Given the description of an element on the screen output the (x, y) to click on. 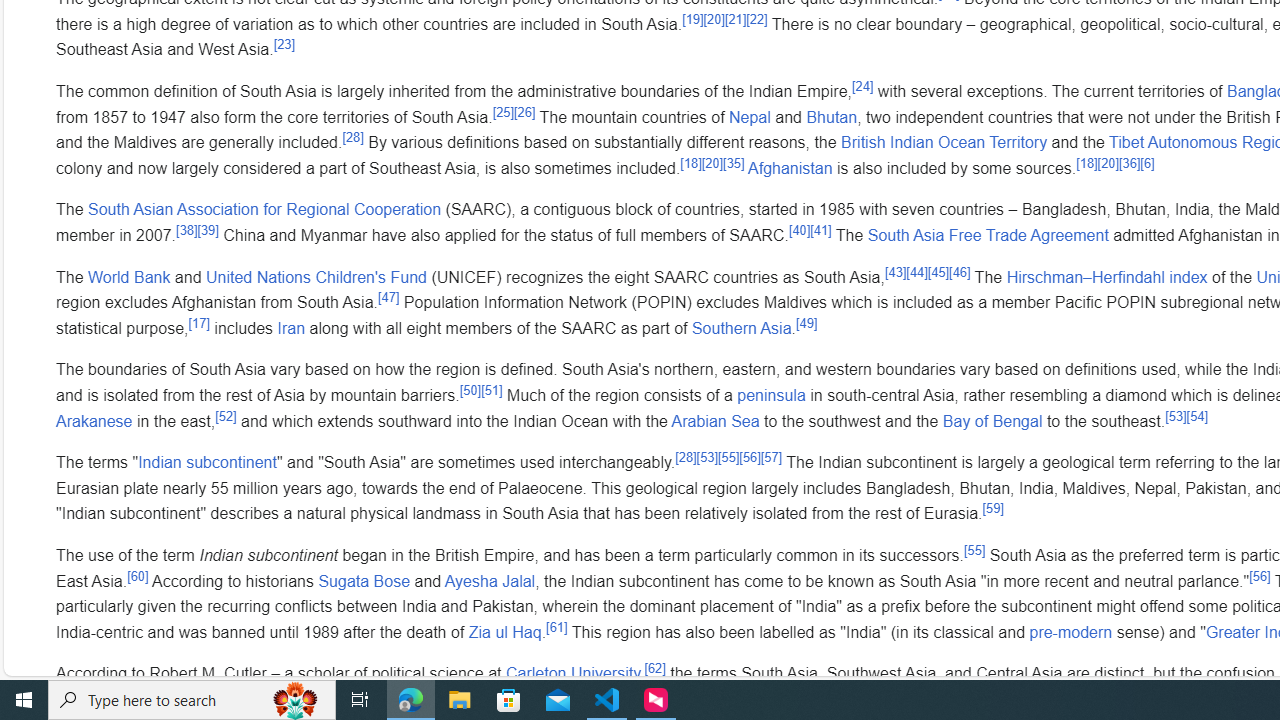
[38] (187, 229)
Afghanistan (790, 168)
South Asian Association for Regional Cooperation (264, 209)
[57] (771, 457)
[36] (1128, 162)
[61] (557, 627)
[26] (525, 111)
[46] (959, 272)
Bay of Bengal (992, 420)
[47] (388, 296)
South Asia Free Trade Agreement (987, 235)
[51] (492, 390)
[62] (654, 668)
[17] (198, 323)
